Given the description of an element on the screen output the (x, y) to click on. 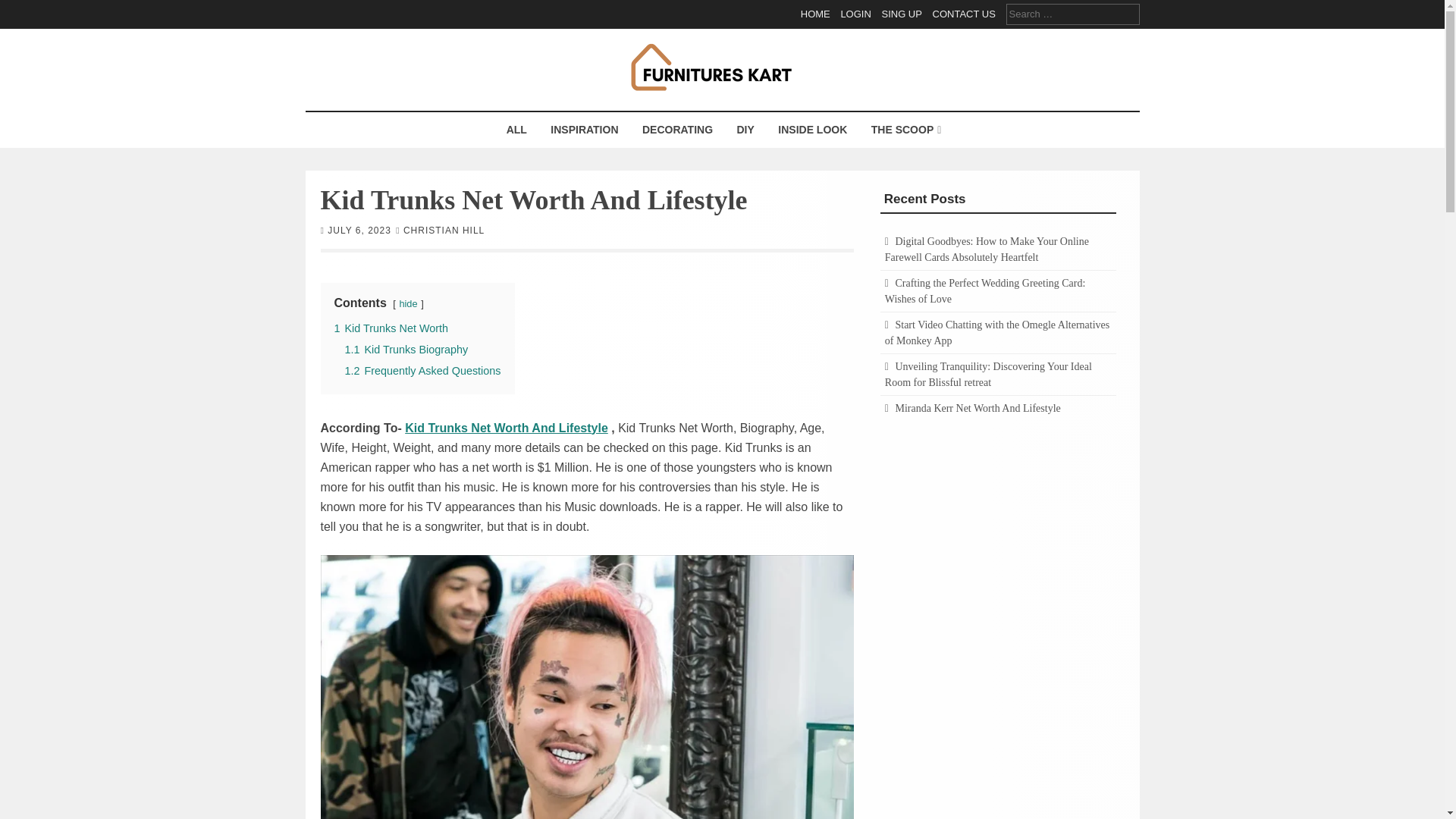
ALL (516, 130)
HOME (814, 13)
1.2 Frequently Asked Questions (421, 369)
Miranda Kerr Net Worth And Lifestyle (977, 408)
INSPIRATION (583, 130)
INSIDE LOOK (812, 130)
Crafting the Perfect Wedding Greeting Card: Wishes of Love (985, 290)
LOGIN (855, 13)
CONTACT US (964, 13)
CHRISTIAN HILL (443, 229)
DECORATING (676, 130)
THE SCOOP (904, 130)
JULY 6, 2023 (359, 229)
1.1 Kid Trunks Biography (405, 348)
